Given the description of an element on the screen output the (x, y) to click on. 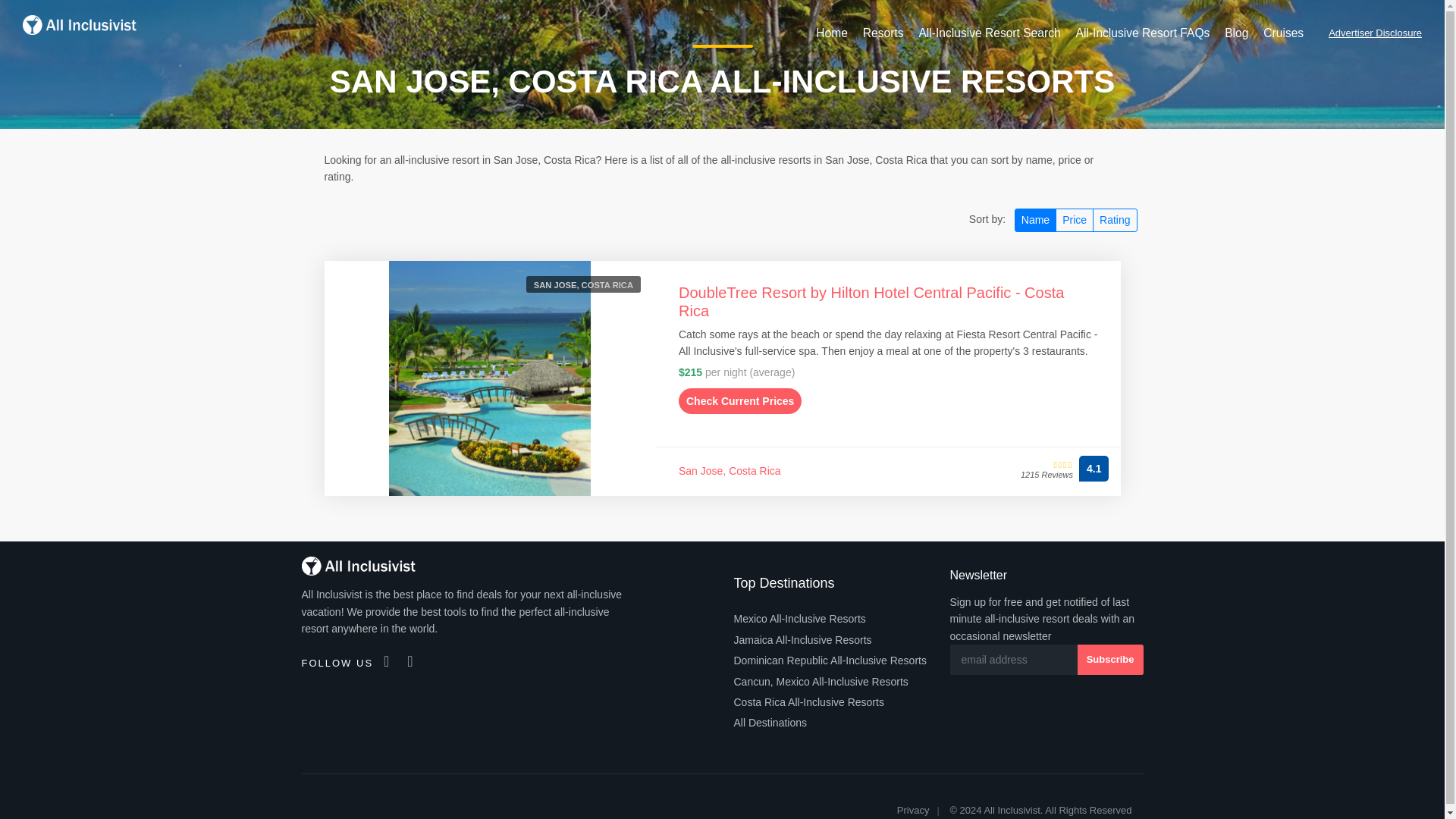
All Destinations (770, 722)
Mexico All-Inclusive Resorts (799, 618)
San Jose, Costa Rica (729, 470)
Cancun, Mexico All-Inclusive Resorts (820, 681)
Subscribe (1109, 659)
Jamaica All-Inclusive Resorts (802, 639)
Rating (1115, 219)
Privacy (913, 811)
Costa Rica All-Inclusive Resorts (808, 701)
Subscribe (1109, 659)
Price (1074, 219)
Check Current Prices (740, 401)
Name (1035, 219)
Dominican Republic All-Inclusive Resorts (829, 660)
